Given the description of an element on the screen output the (x, y) to click on. 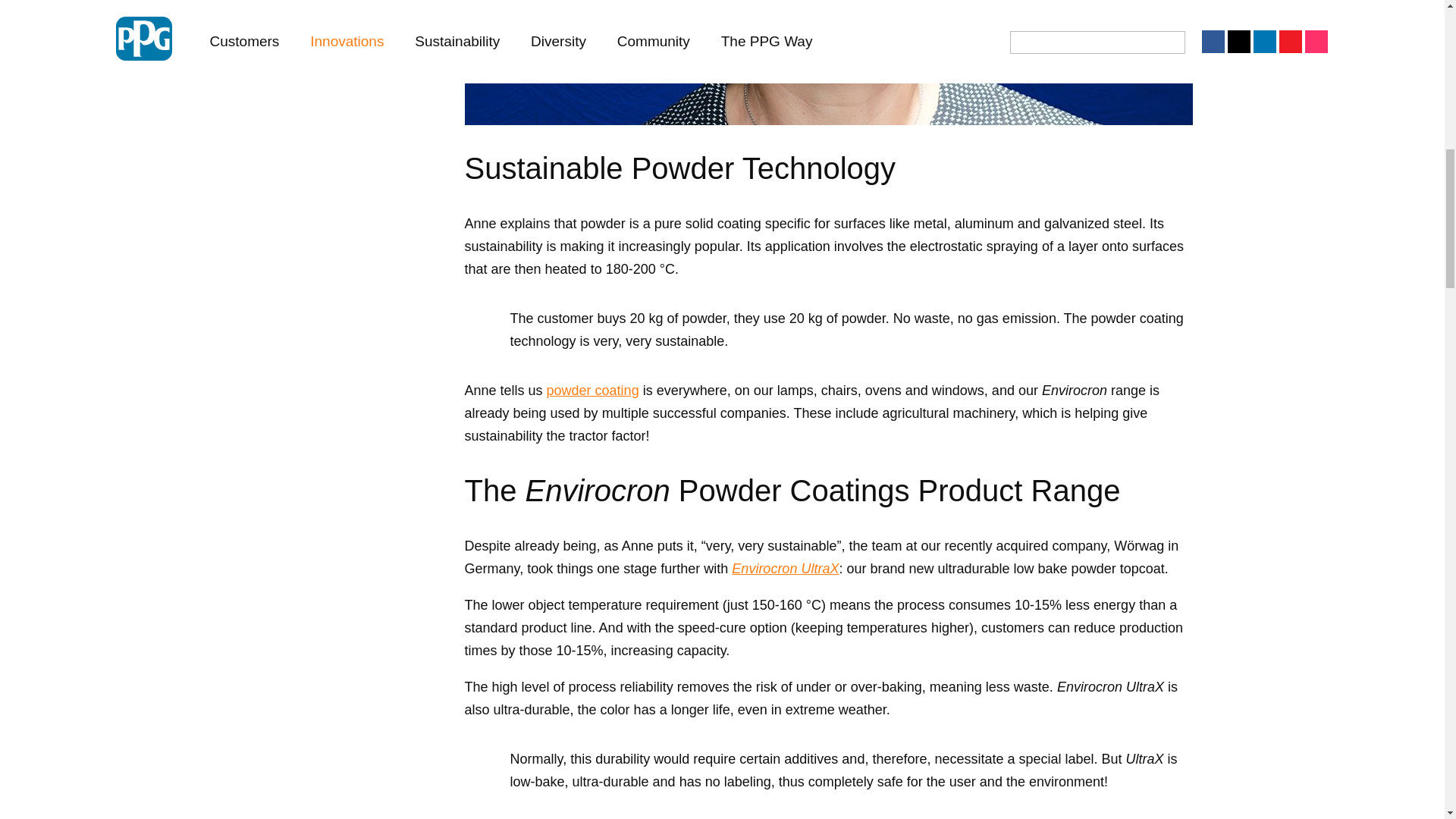
powder coating (593, 390)
Envirocron UltraX (785, 568)
